Given the description of an element on the screen output the (x, y) to click on. 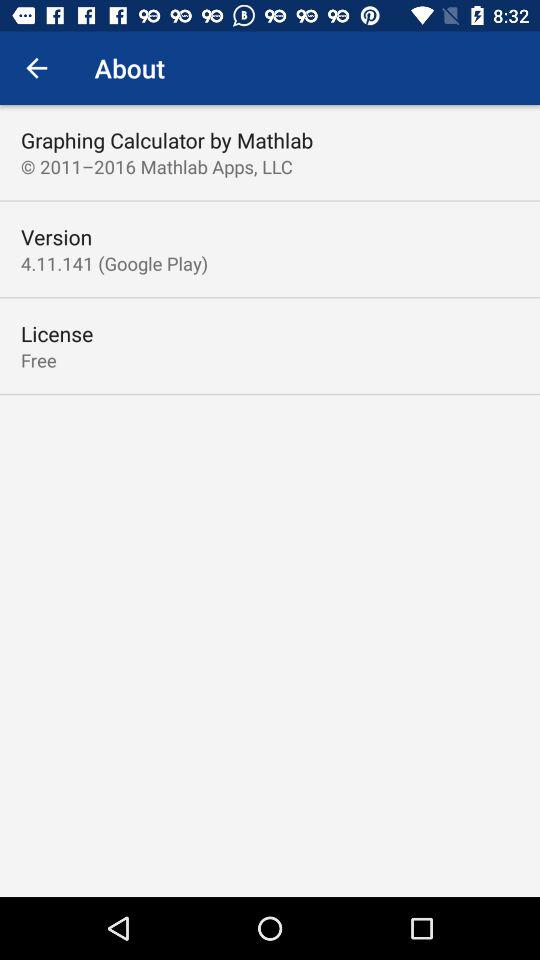
select icon above 2011 2016 mathlab item (167, 139)
